Given the description of an element on the screen output the (x, y) to click on. 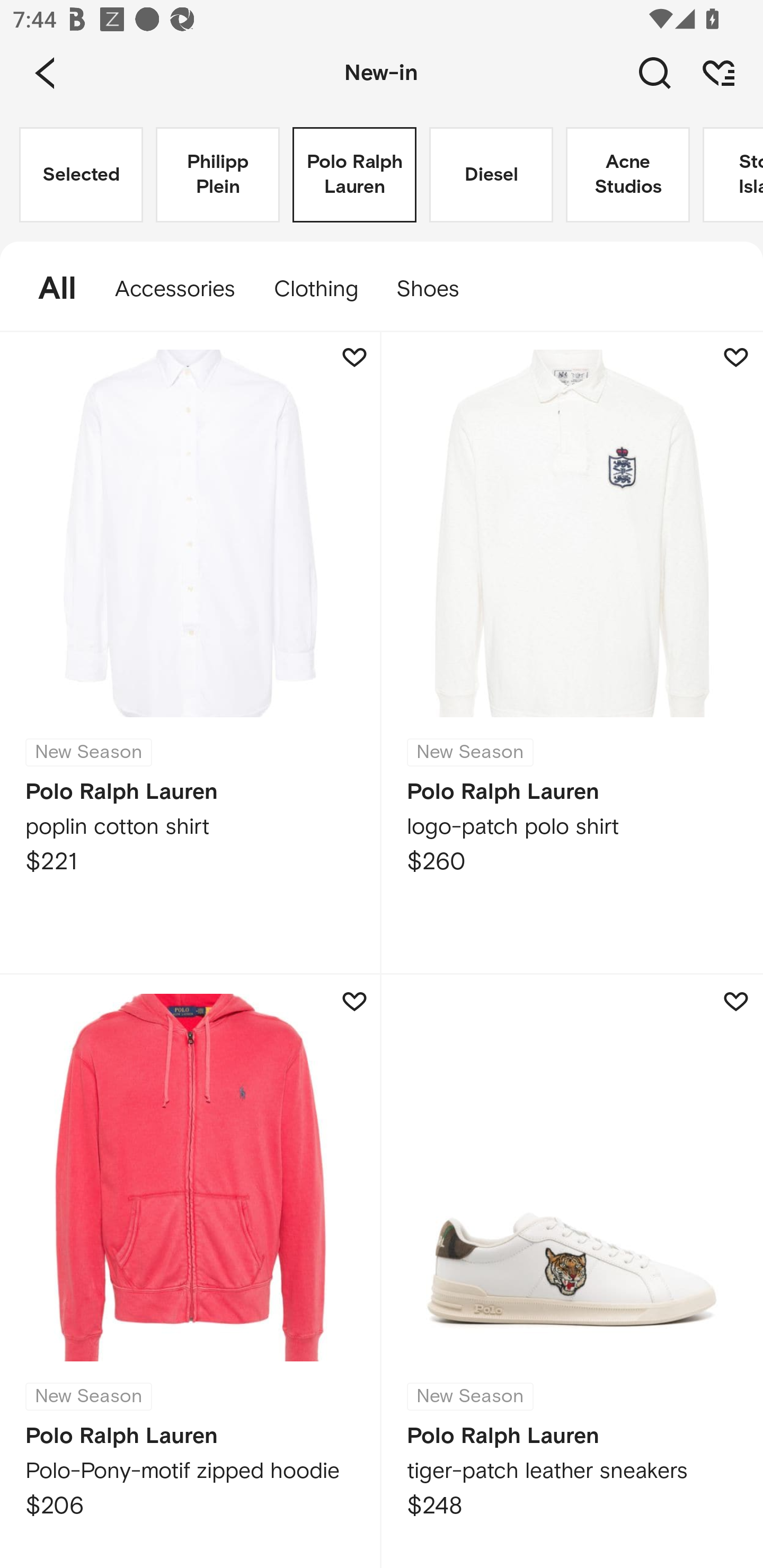
Selected (81, 174)
Philipp Plein (217, 174)
Polo Ralph Lauren (354, 174)
Diesel (490, 174)
Acne Studios (627, 174)
All (47, 288)
Accessories (174, 288)
Clothing (315, 288)
Shoes (436, 288)
